Given the description of an element on the screen output the (x, y) to click on. 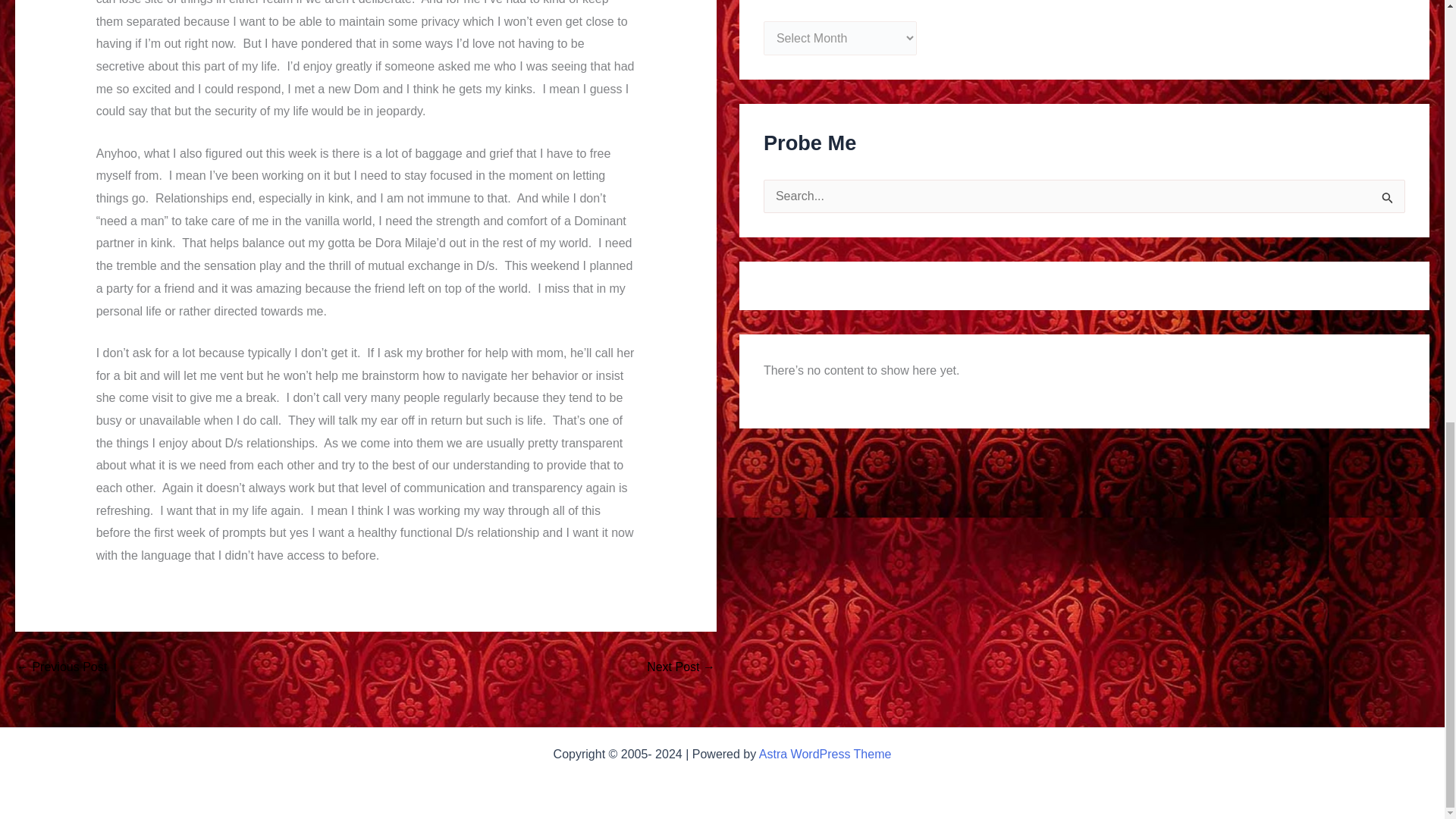
Astra WordPress Theme (824, 753)
Search (1388, 200)
Search (1388, 200)
Search (1388, 200)
Sunday Afternoon, Rain Is Falling: Prompt 7 (61, 666)
